Given the description of an element on the screen output the (x, y) to click on. 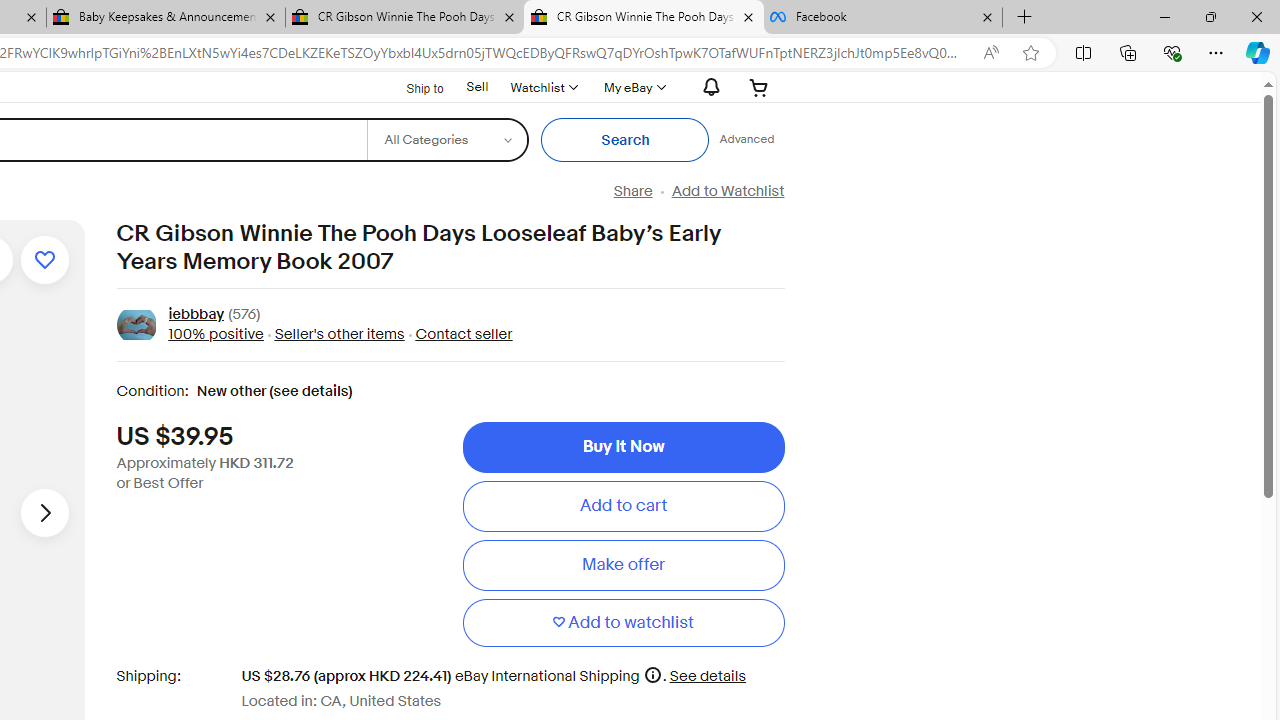
Add to watchlist (44, 259)
Buy It Now (623, 447)
Your shopping cart (759, 87)
100% positive (215, 334)
Make offer (623, 565)
My eBayExpand My eBay (632, 87)
Select a category for search (447, 139)
